Given the description of an element on the screen output the (x, y) to click on. 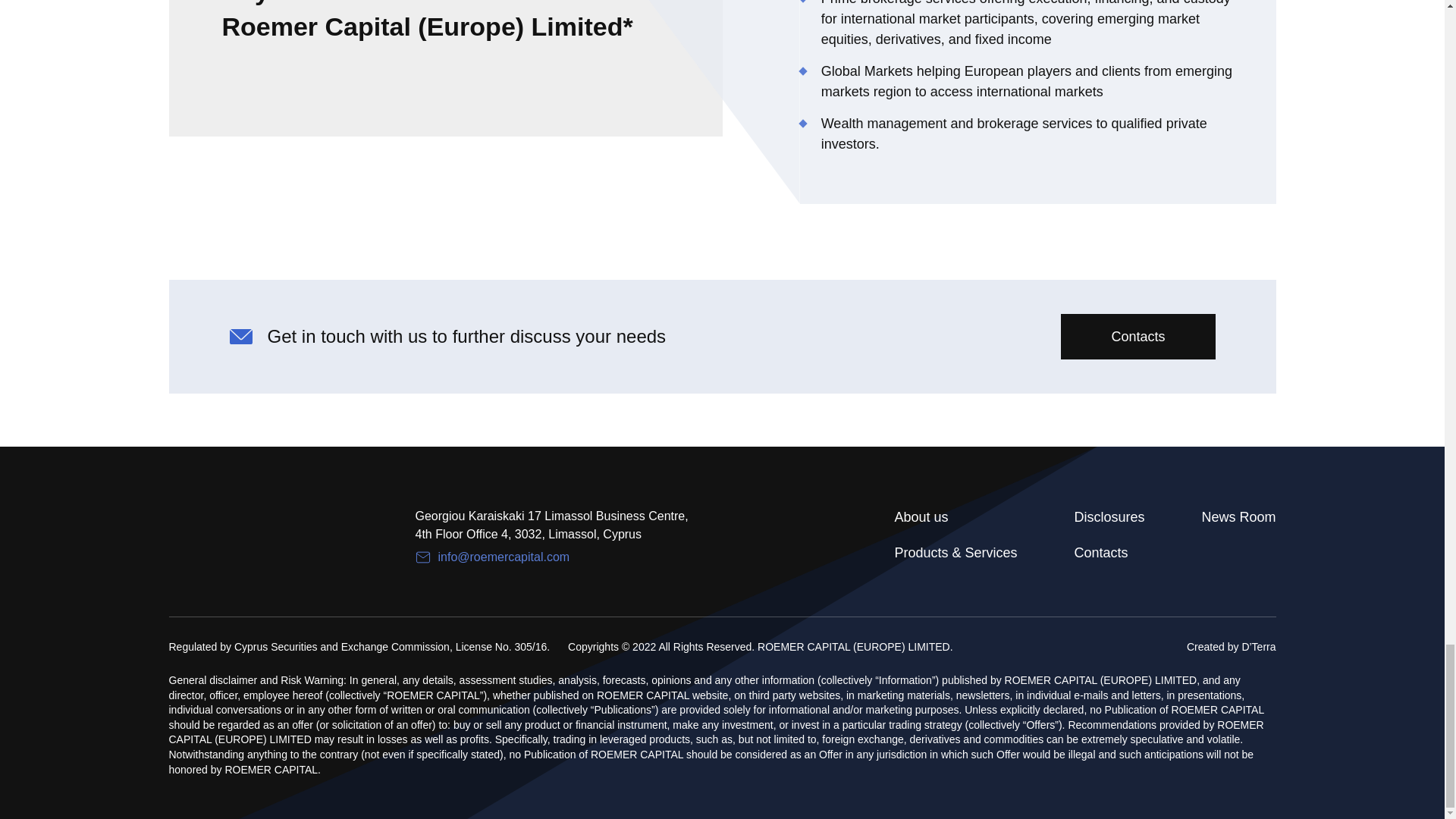
News Room (1238, 516)
Disclosures (1109, 516)
Contacts (1109, 552)
About us (954, 516)
Contacts (1137, 336)
